Given the description of an element on the screen output the (x, y) to click on. 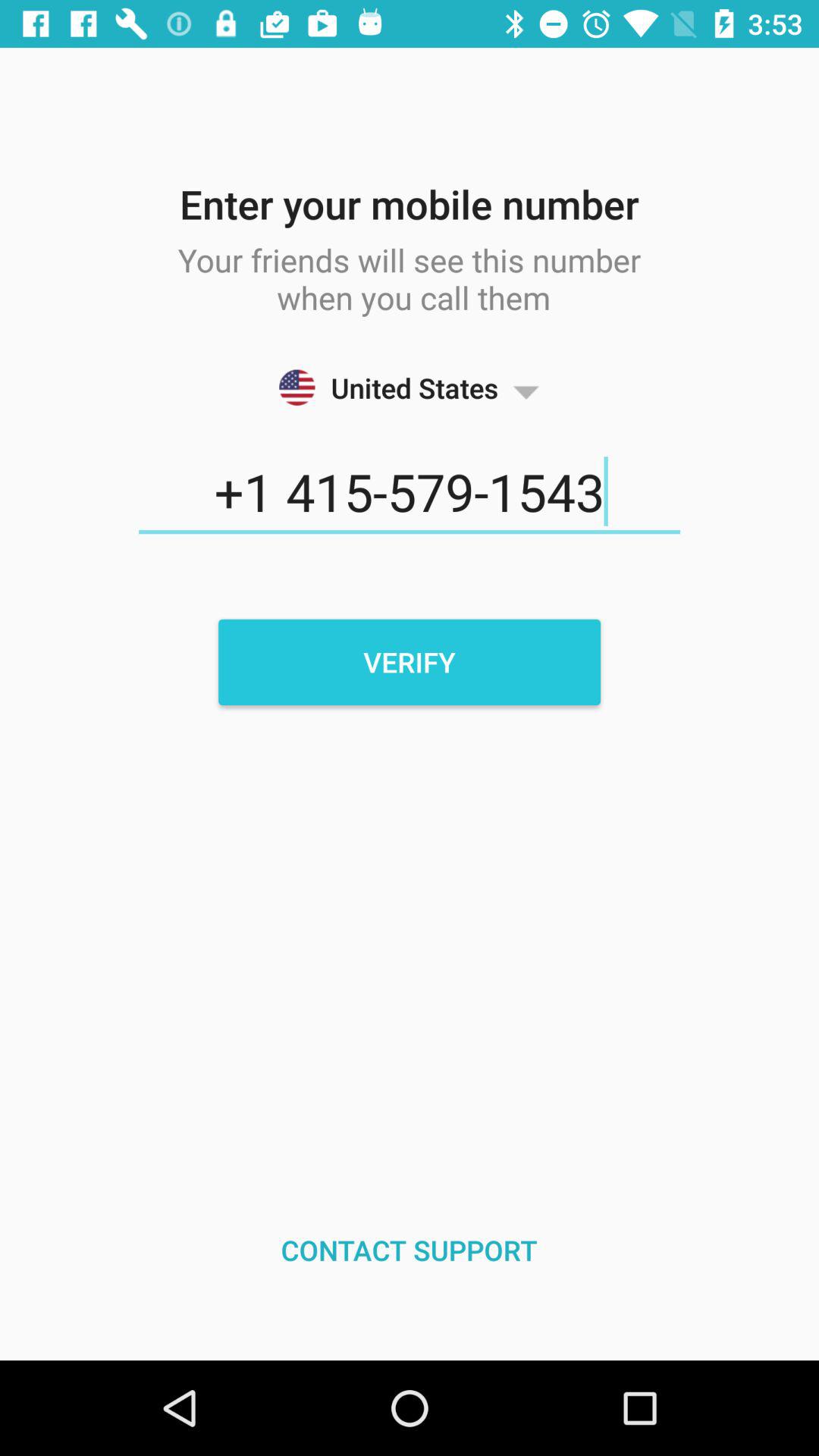
choose contact support icon (409, 1249)
